Given the description of an element on the screen output the (x, y) to click on. 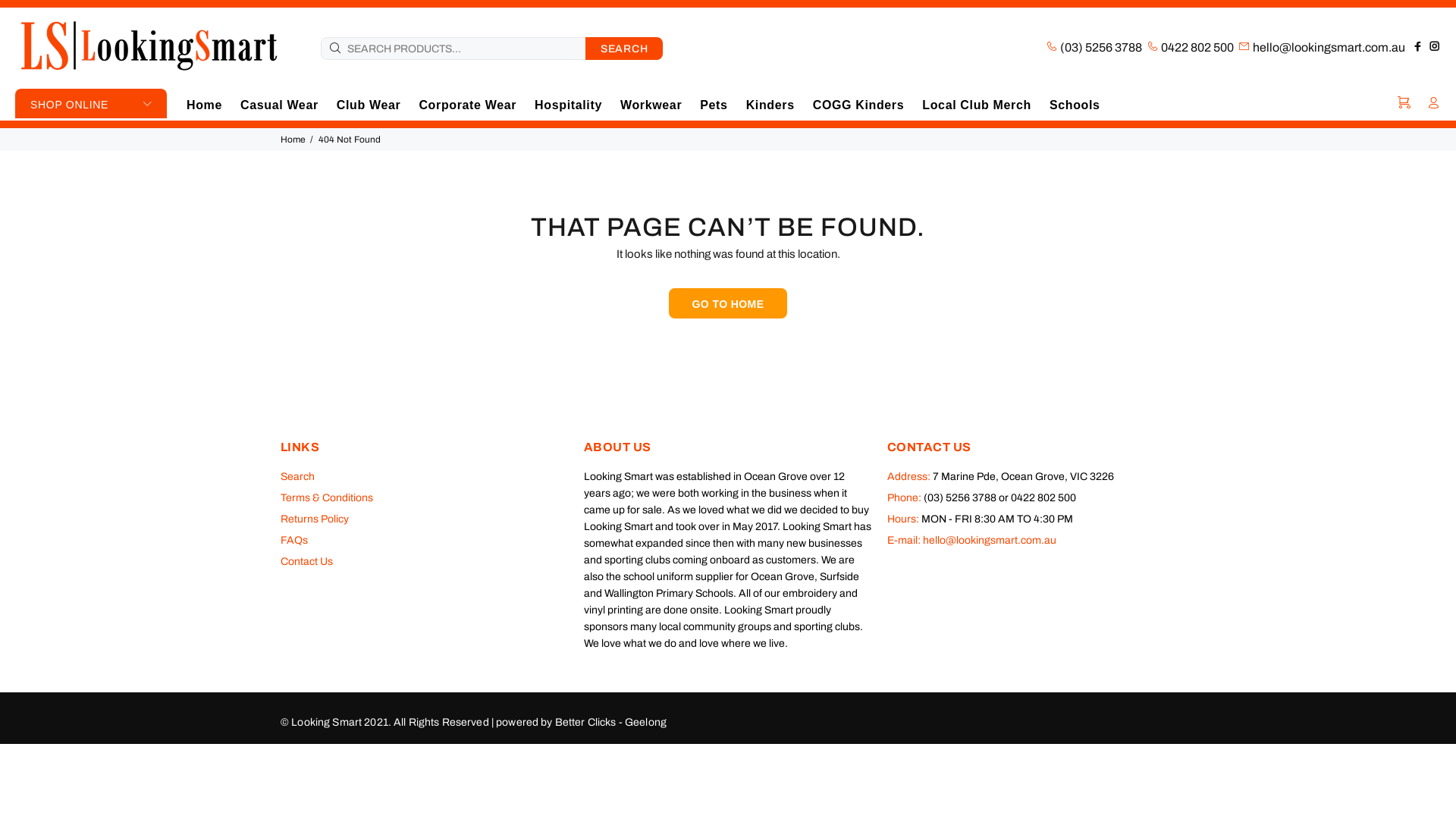
Workwear Element type: text (650, 104)
SHOP ONLINE Element type: text (90, 103)
Corporate Wear Element type: text (467, 104)
GO TO HOME Element type: text (727, 303)
Home Element type: text (292, 139)
SEARCH Element type: text (623, 47)
COGG Kinders Element type: text (858, 104)
Club Wear Element type: text (368, 104)
Terms & Conditions Element type: text (326, 497)
Schools Element type: text (1070, 104)
(03) 5256 3788 Element type: text (1099, 46)
Returns Policy Element type: text (314, 519)
Hospitality Element type: text (568, 104)
Contact Us Element type: text (306, 561)
Local Club Merch Element type: text (976, 104)
FAQs Element type: text (293, 540)
Pets Element type: text (713, 104)
0422 802 500 Element type: text (1195, 46)
Kinders Element type: text (770, 104)
hello@lookingsmart.com.au Element type: text (1328, 46)
hello@lookingsmart.com.au Element type: text (989, 540)
Better Clicks - Geelong Element type: text (610, 722)
Search Element type: text (297, 476)
Home Element type: text (208, 104)
Casual Wear Element type: text (279, 104)
